Given the description of an element on the screen output the (x, y) to click on. 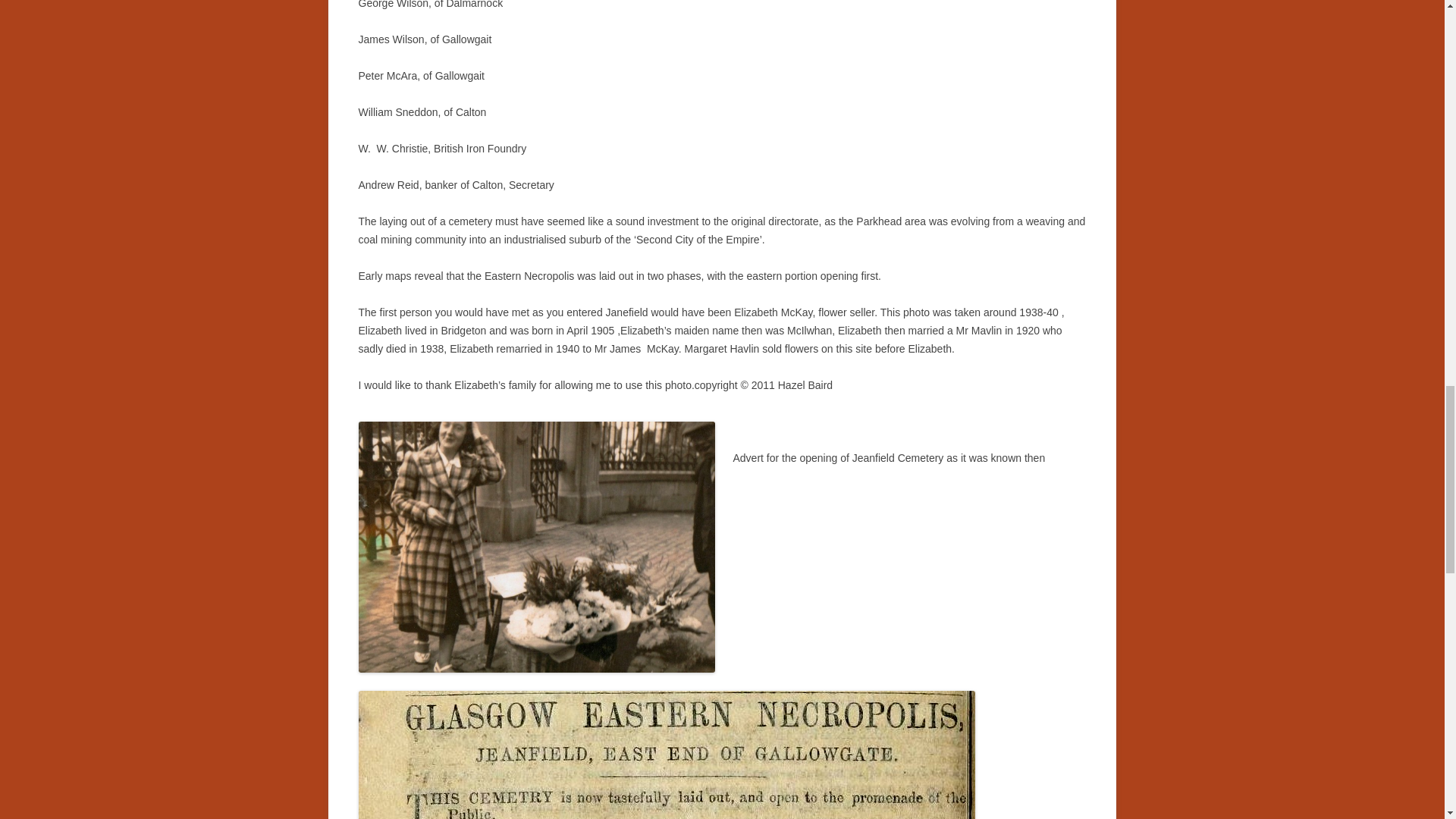
elizabeth havlin 1938 (536, 546)
eastern necropolis (666, 755)
